Given the description of an element on the screen output the (x, y) to click on. 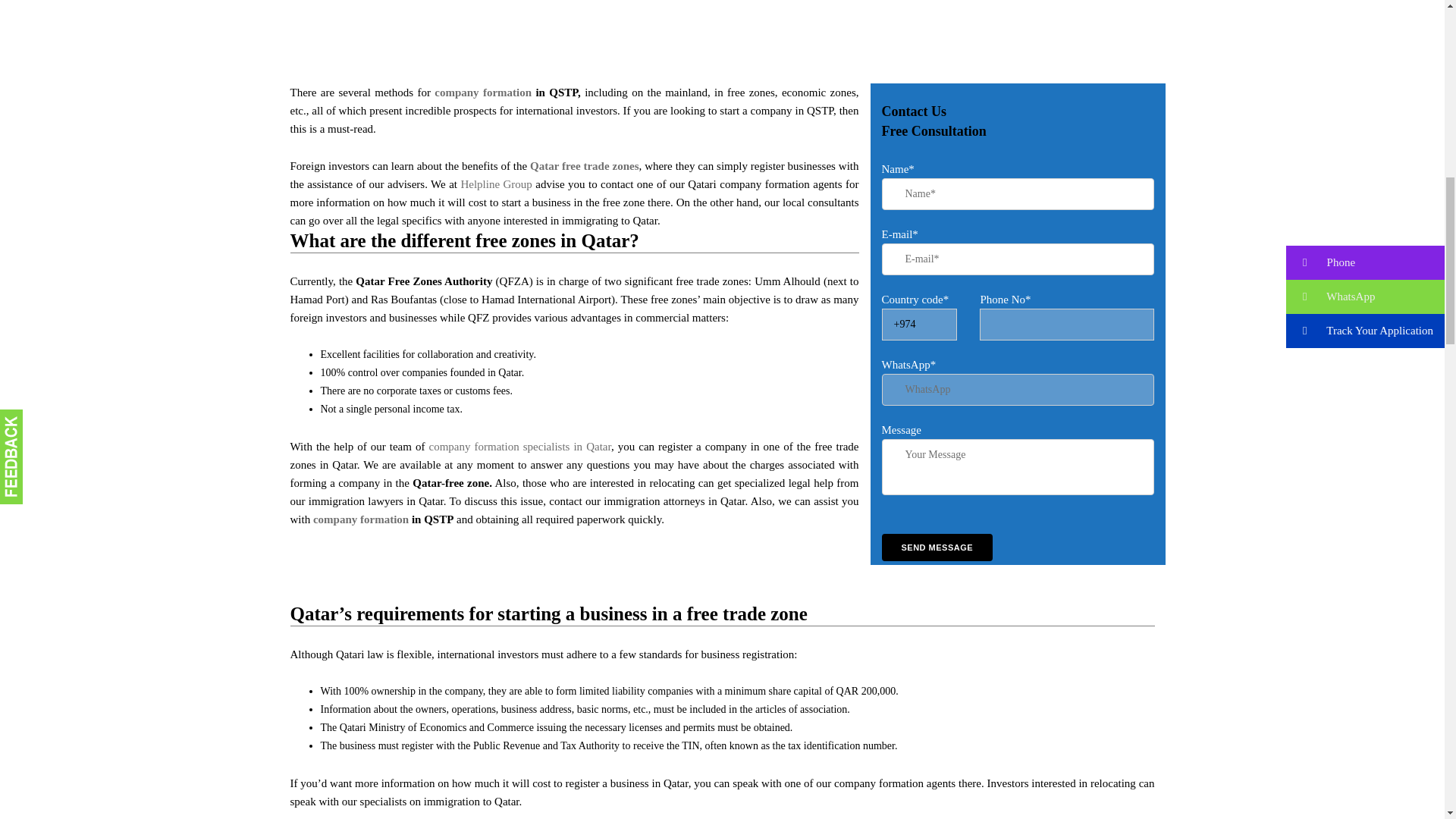
send message (936, 547)
